Given the description of an element on the screen output the (x, y) to click on. 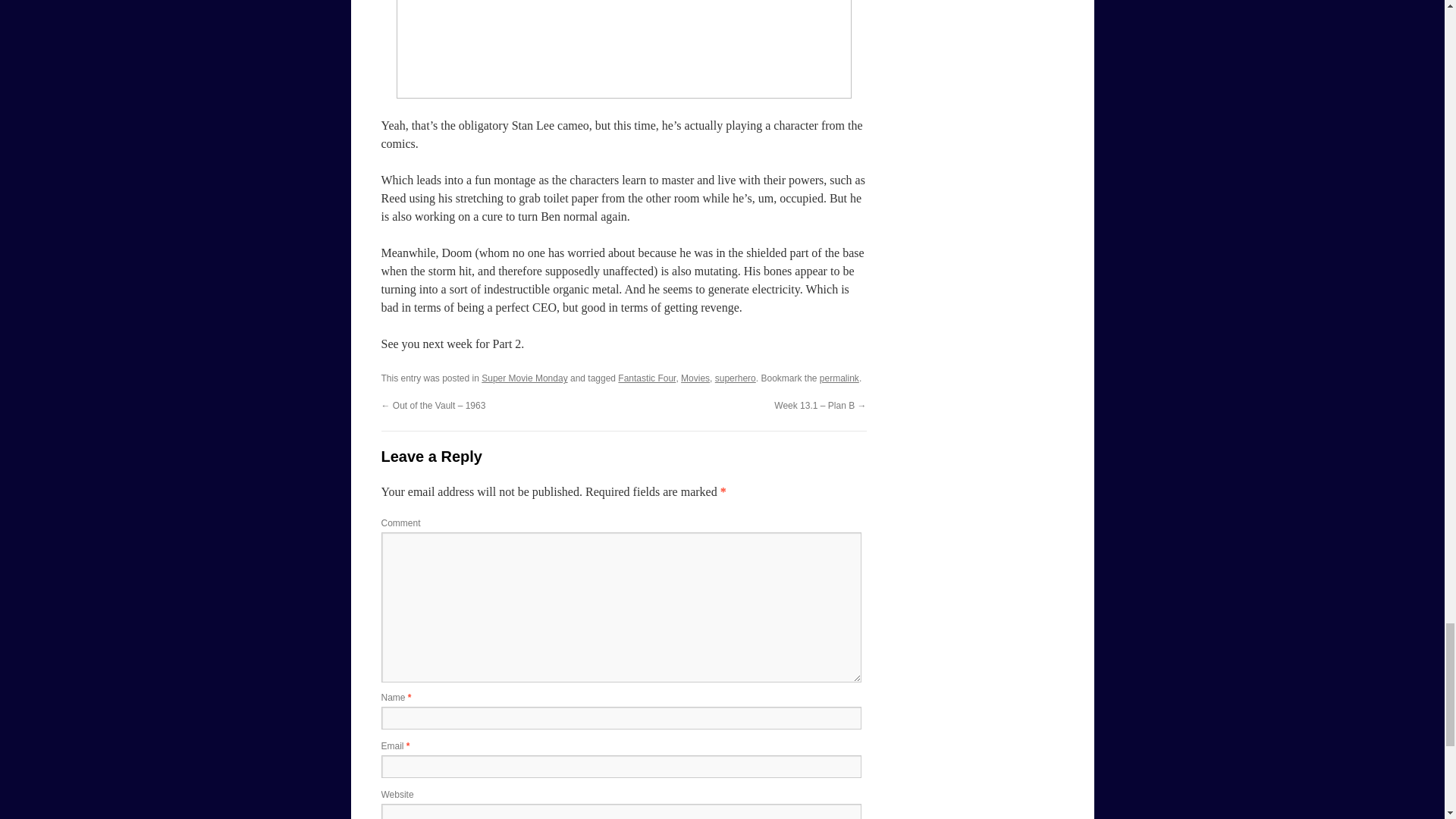
Fantastic Four (646, 378)
Super Movie Monday (524, 378)
Movies (695, 378)
Stan the Mailman (623, 49)
permalink (839, 378)
superhero (734, 378)
